Given the description of an element on the screen output the (x, y) to click on. 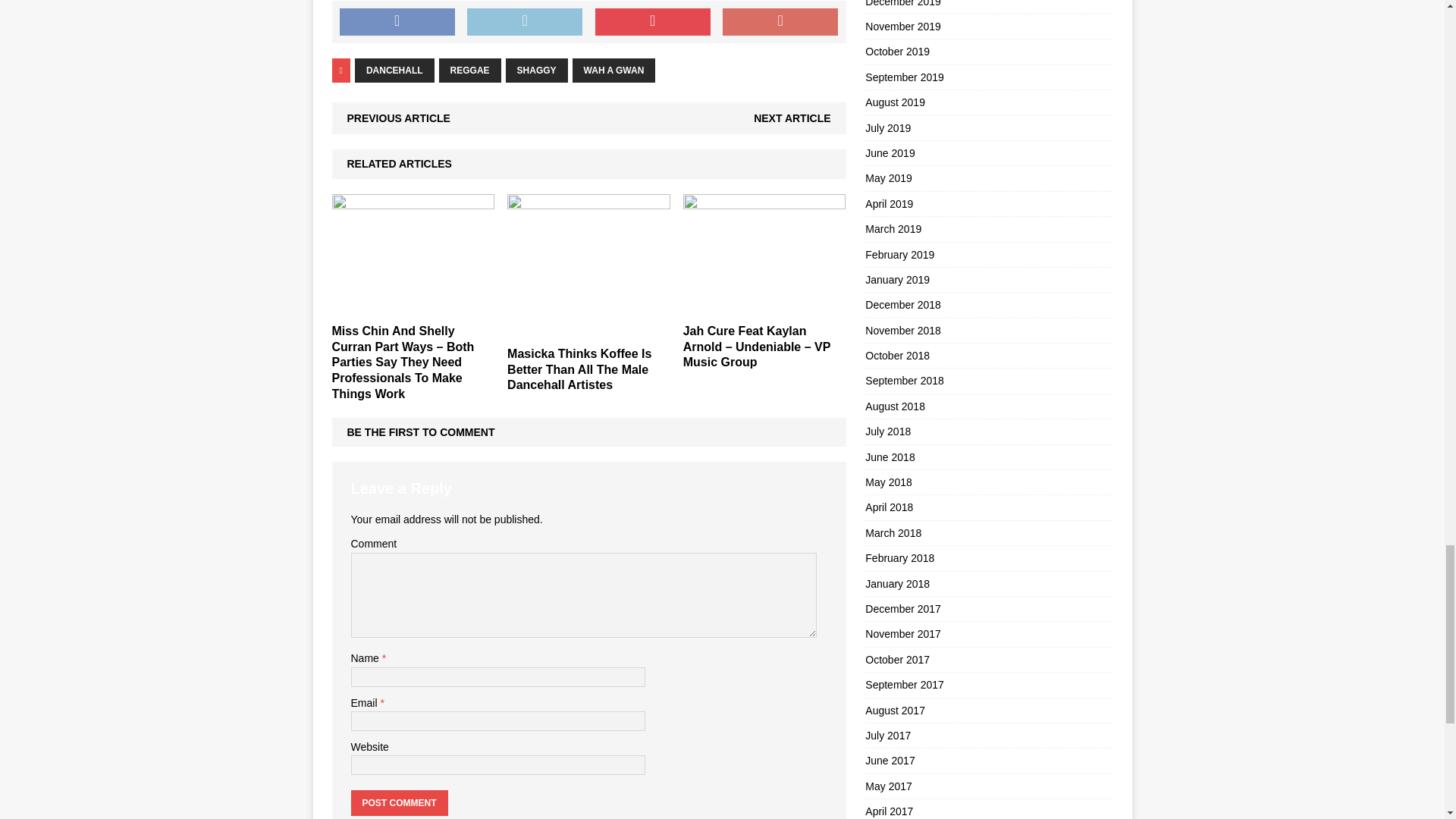
NEXT ARTICLE (791, 118)
Post Comment (398, 802)
Pin This Post (652, 22)
REGGAE (469, 70)
SHAGGY (536, 70)
PREVIOUS ARTICLE (398, 118)
Tweet This Post (524, 22)
Share on Facebook (396, 22)
DANCEHALL (394, 70)
WAH A GWAN (614, 70)
